Given the description of an element on the screen output the (x, y) to click on. 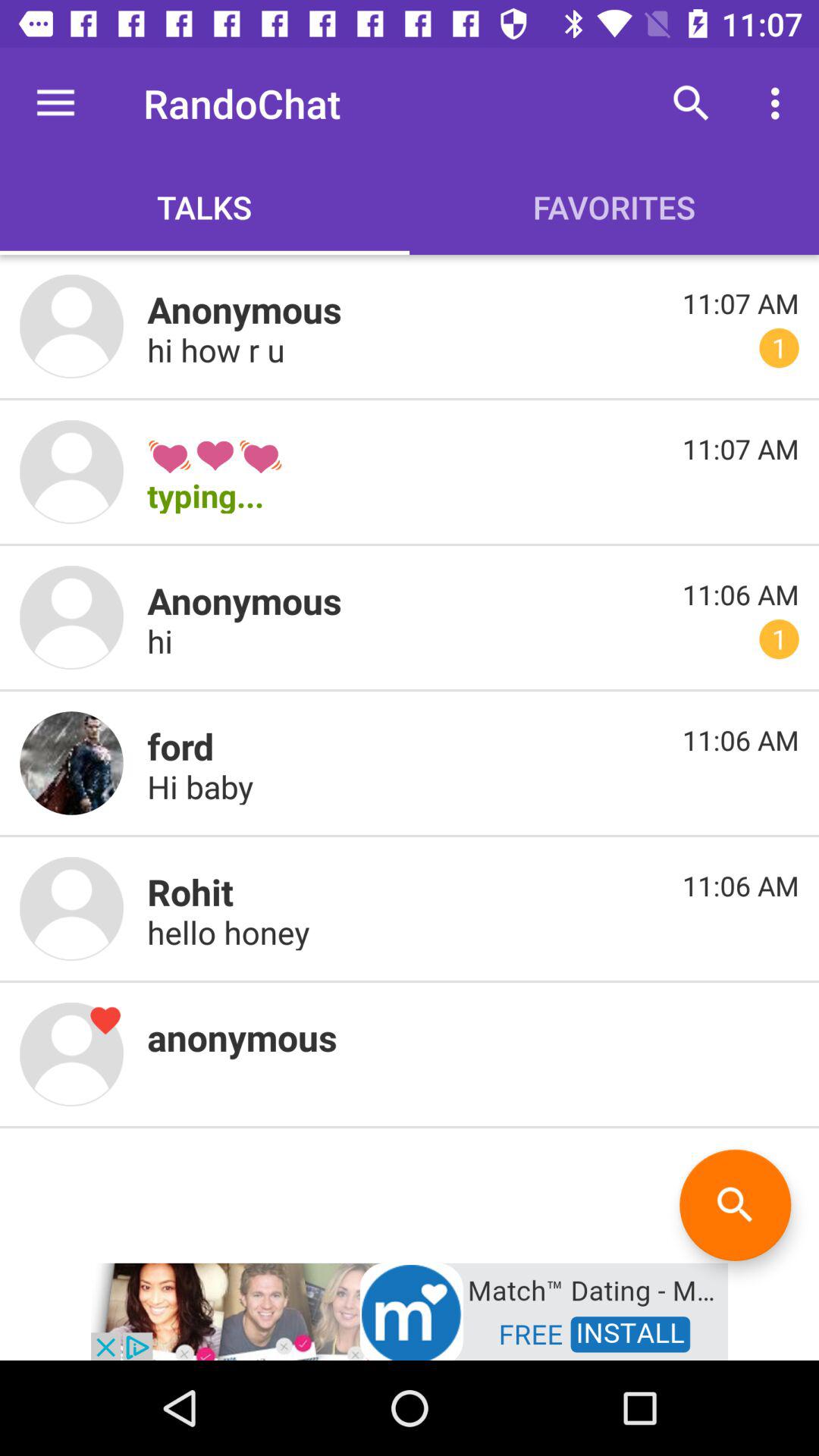
click to search option (735, 1204)
